Given the description of an element on the screen output the (x, y) to click on. 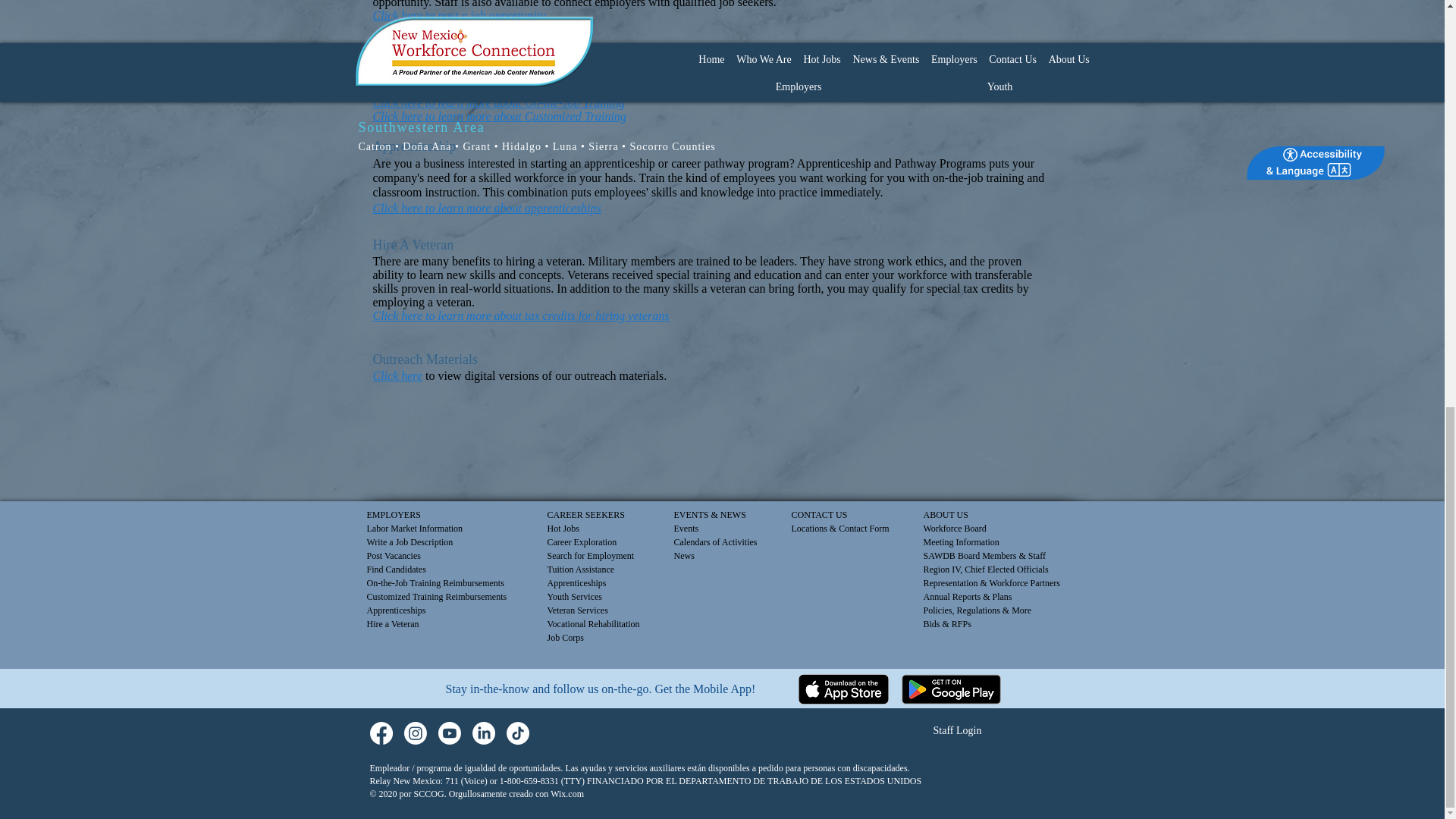
Find Candidates (396, 569)
Write a Job Description (409, 542)
Apprenticeships (577, 583)
st Vacancies (397, 555)
Youth Services (574, 596)
Click here (397, 375)
Click here to learn more about apprenticeships (486, 207)
Labor Market Information (414, 528)
Hot Jobs (563, 528)
Career Exploration (582, 542)
EMPLOYERS (393, 514)
Tuition Assistance (580, 569)
Click here to learn more about Customized Training (499, 115)
On-the-Job Training Reimbursements (434, 583)
CAREER SEEKERS (585, 514)
